Given the description of an element on the screen output the (x, y) to click on. 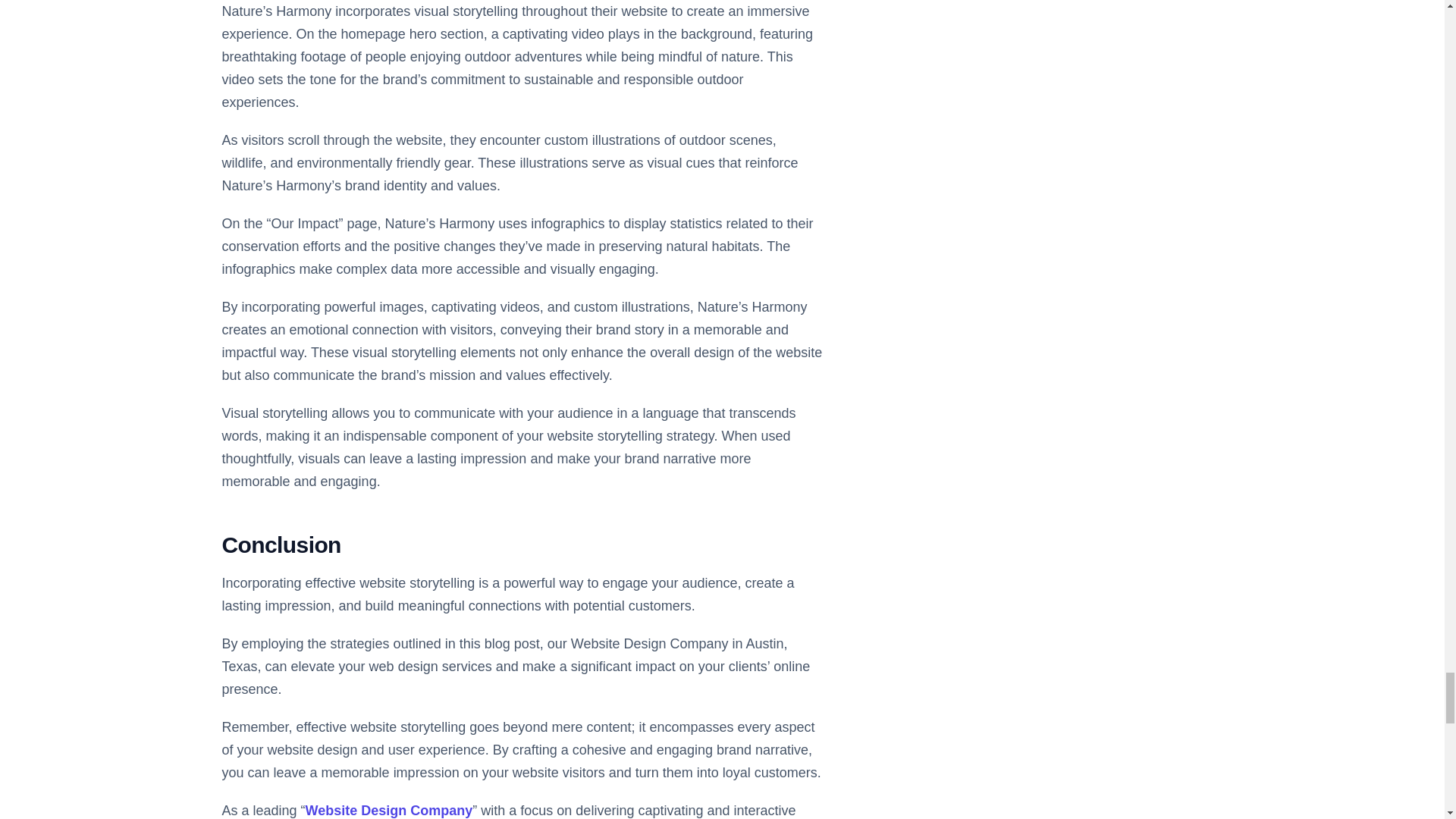
Website Design Company (389, 810)
